Given the description of an element on the screen output the (x, y) to click on. 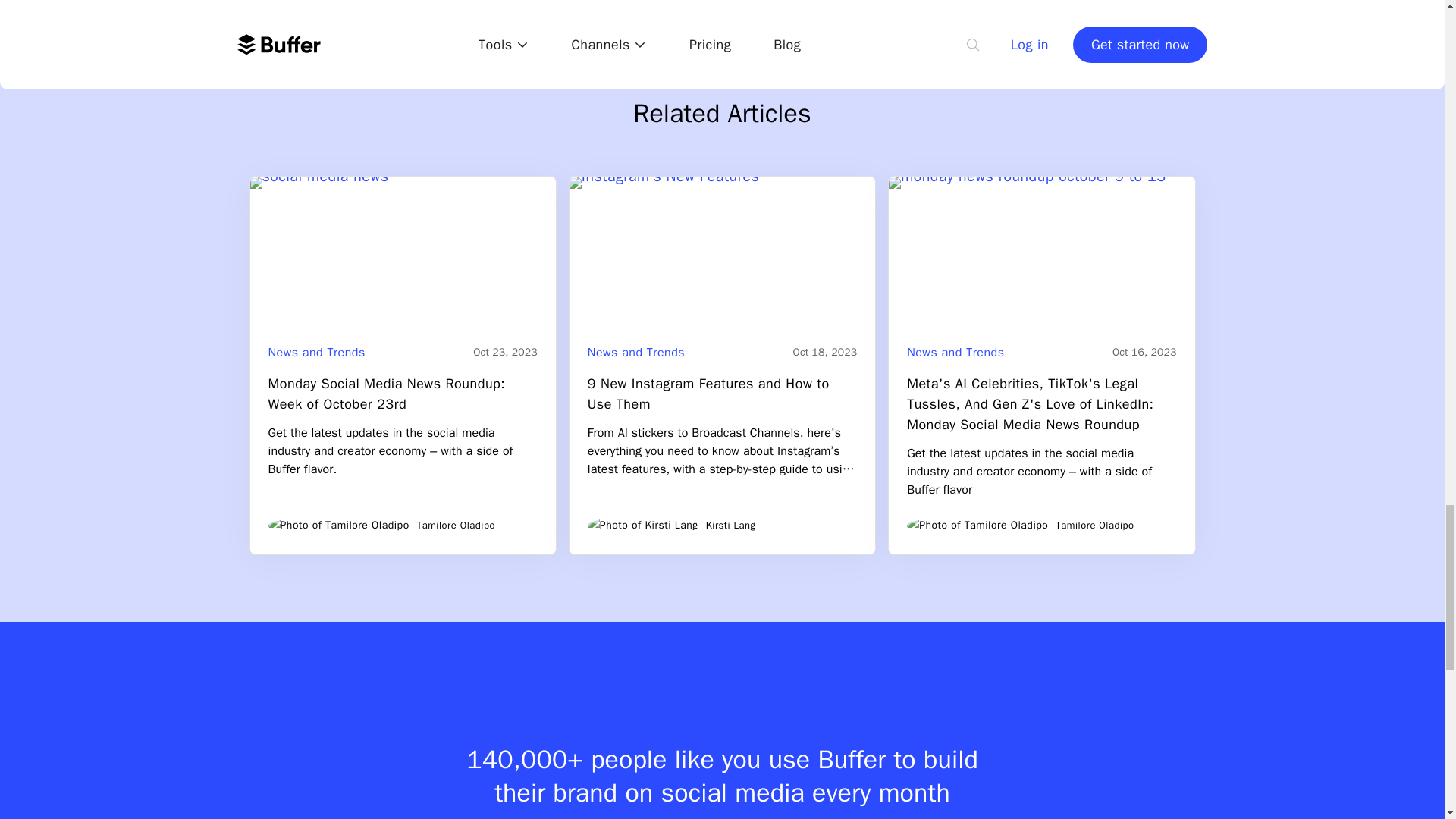
Read more about 9 New Instagram Features and How to Use Them (722, 252)
